Given the description of an element on the screen output the (x, y) to click on. 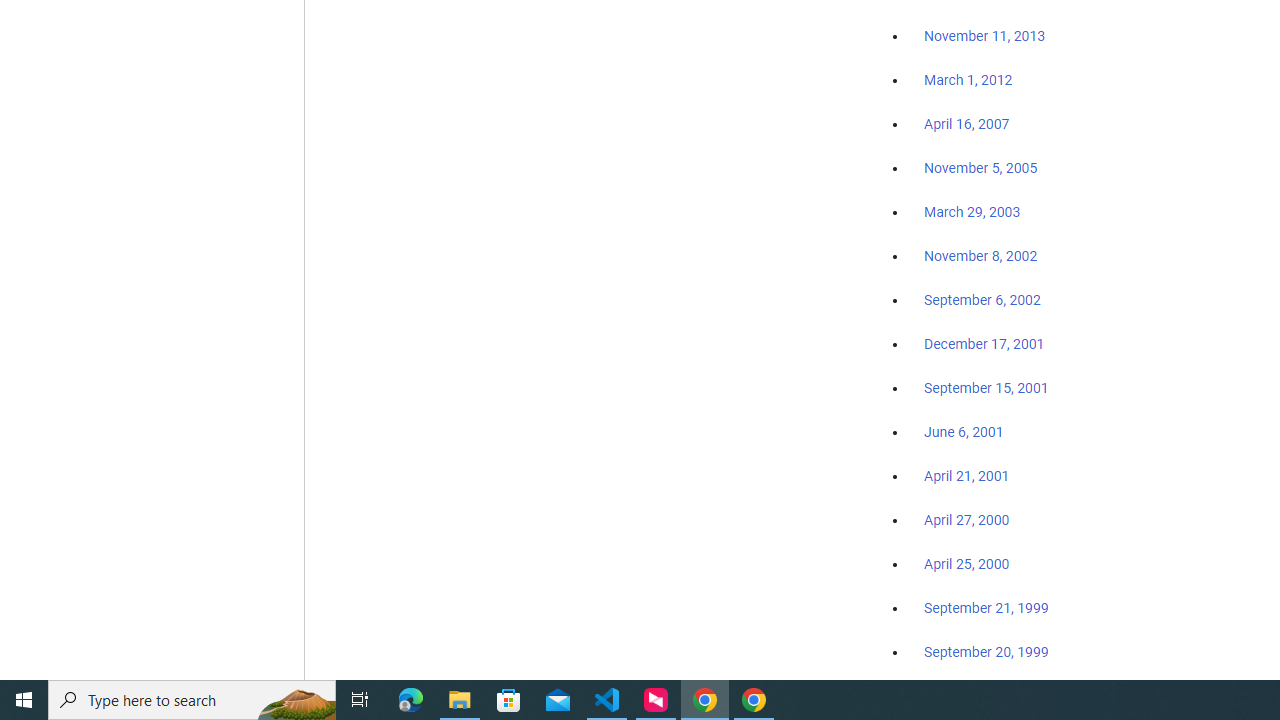
March 1, 2012 (968, 81)
December 17, 2001 (984, 343)
September 21, 1999 (986, 608)
September 15, 2001 (986, 387)
April 16, 2007 (966, 124)
April 25, 2000 (966, 564)
November 5, 2005 (981, 168)
November 8, 2002 (981, 255)
November 11, 2013 (984, 37)
April 21, 2001 (966, 476)
September 6, 2002 (982, 299)
September 20, 1999 (986, 651)
June 6, 2001 (963, 431)
April 27, 2000 (966, 520)
March 29, 2003 (972, 212)
